Given the description of an element on the screen output the (x, y) to click on. 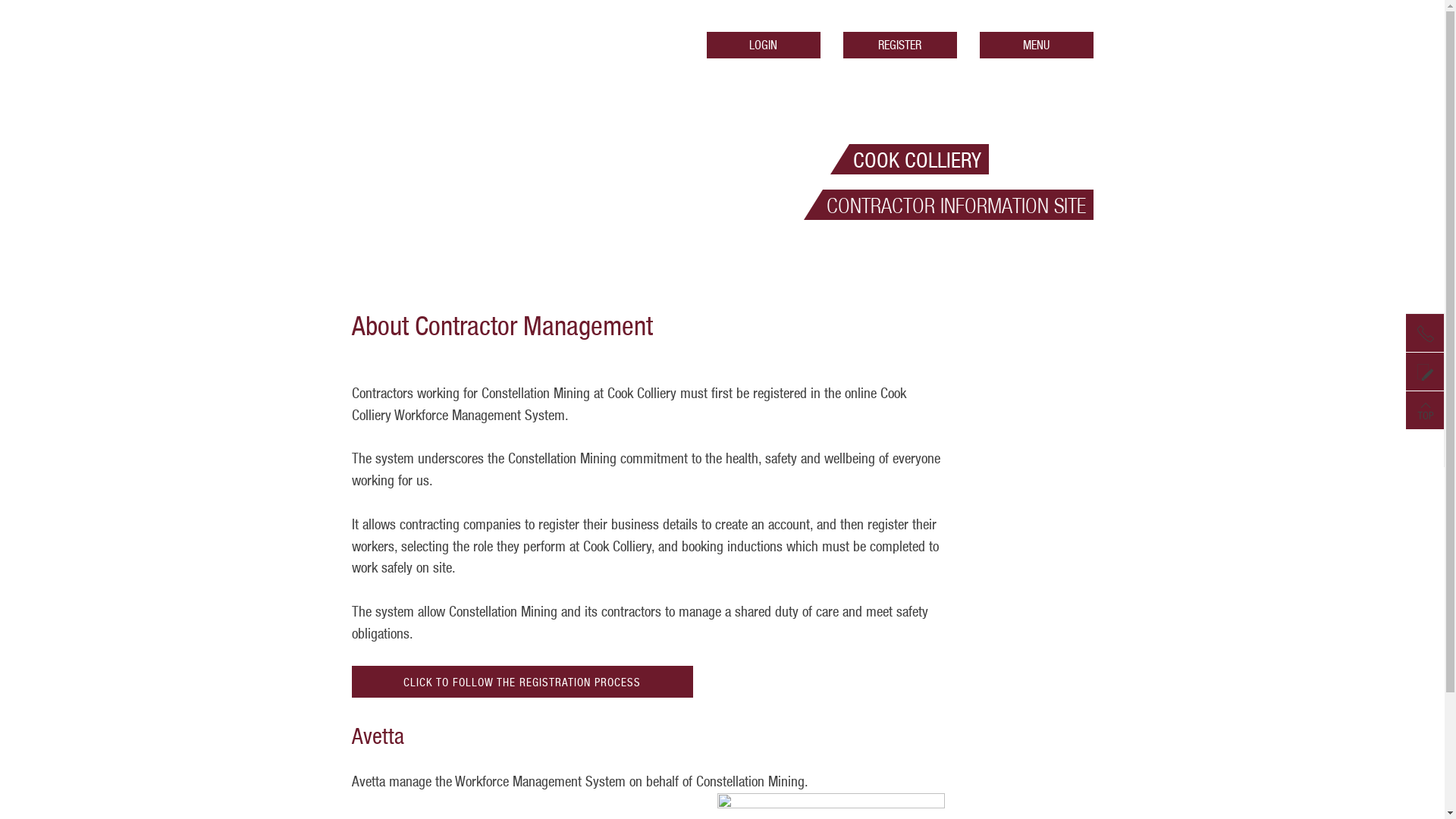
Cook Colliery Element type: text (454, 54)
REGISTER Element type: text (900, 44)
CLICK TO FOLLOW THE REGISTRATION PROCESS Element type: text (522, 681)
CLICK TO FOLLOW THE REGISTRATION PROCESS Element type: text (522, 681)
MENU Element type: text (1036, 44)
LOGIN Element type: text (763, 44)
